Given the description of an element on the screen output the (x, y) to click on. 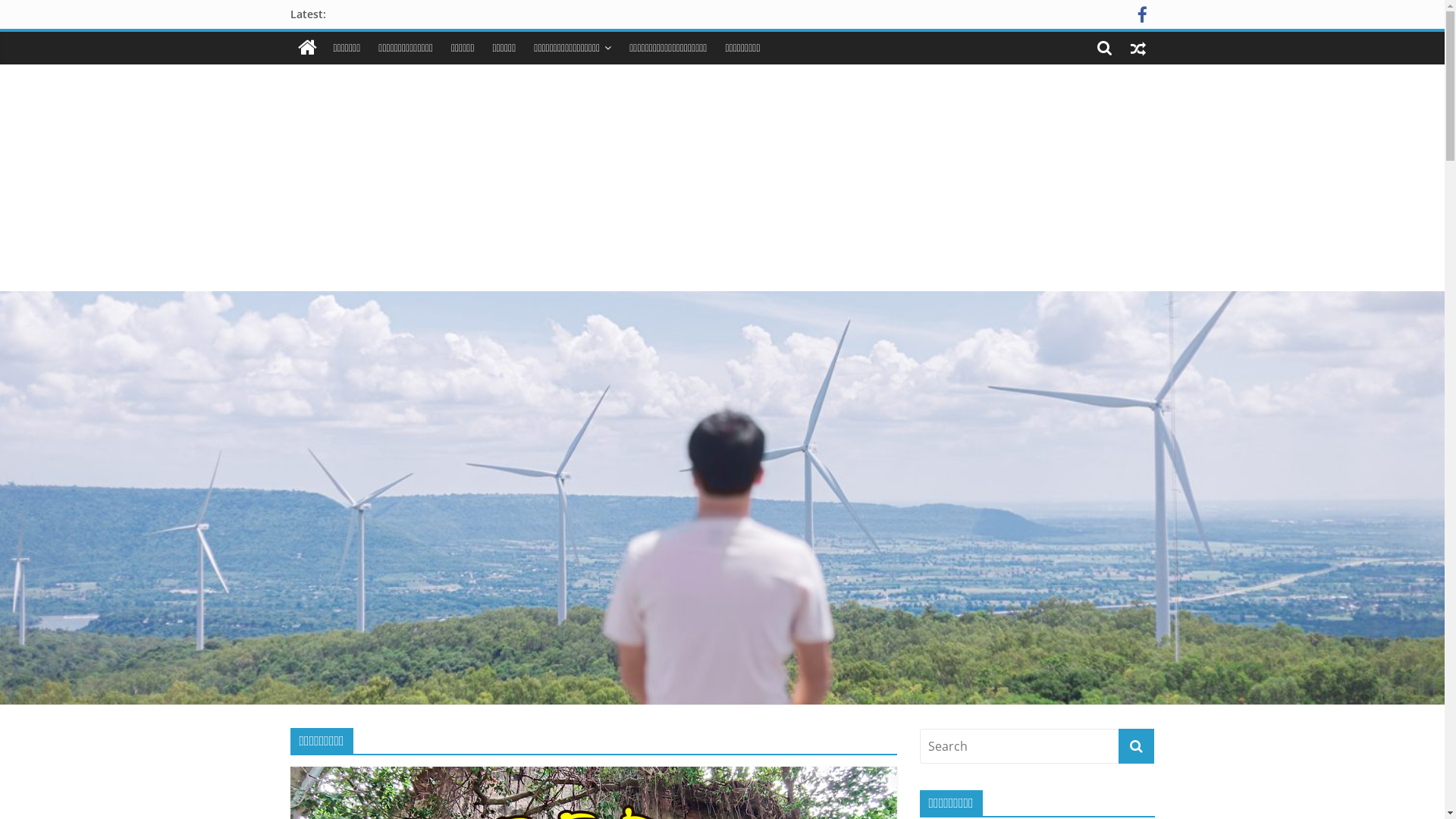
View a random post Element type: hover (1137, 47)
Advertisement Element type: hover (721, 177)
